Given the description of an element on the screen output the (x, y) to click on. 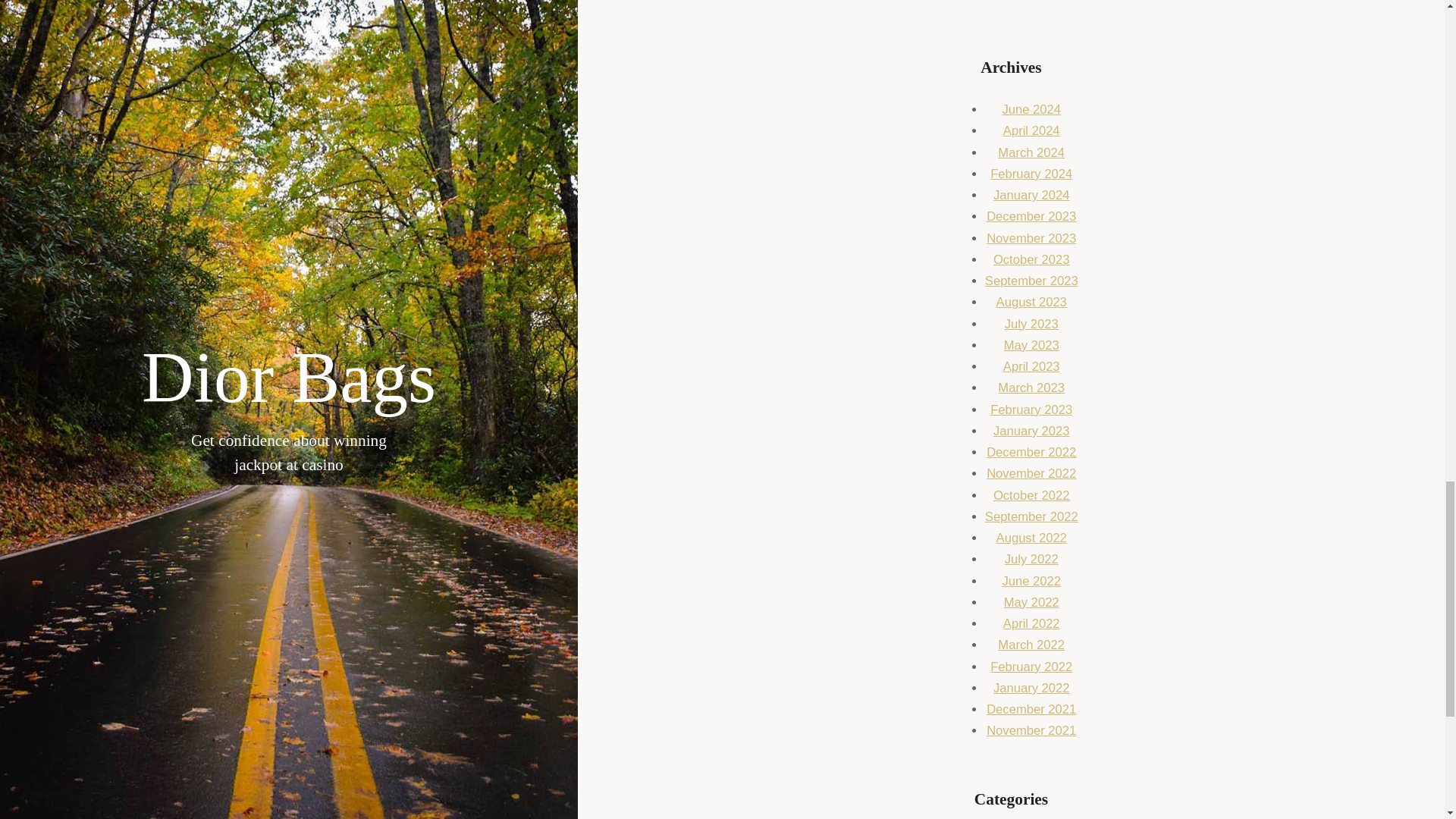
March 2023 (1030, 387)
June 2024 (1031, 109)
March 2024 (1030, 152)
January 2024 (1031, 195)
February 2023 (1030, 409)
September 2022 (1031, 516)
May 2023 (1031, 345)
July 2023 (1031, 323)
November 2023 (1031, 237)
October 2023 (1031, 259)
